Given the description of an element on the screen output the (x, y) to click on. 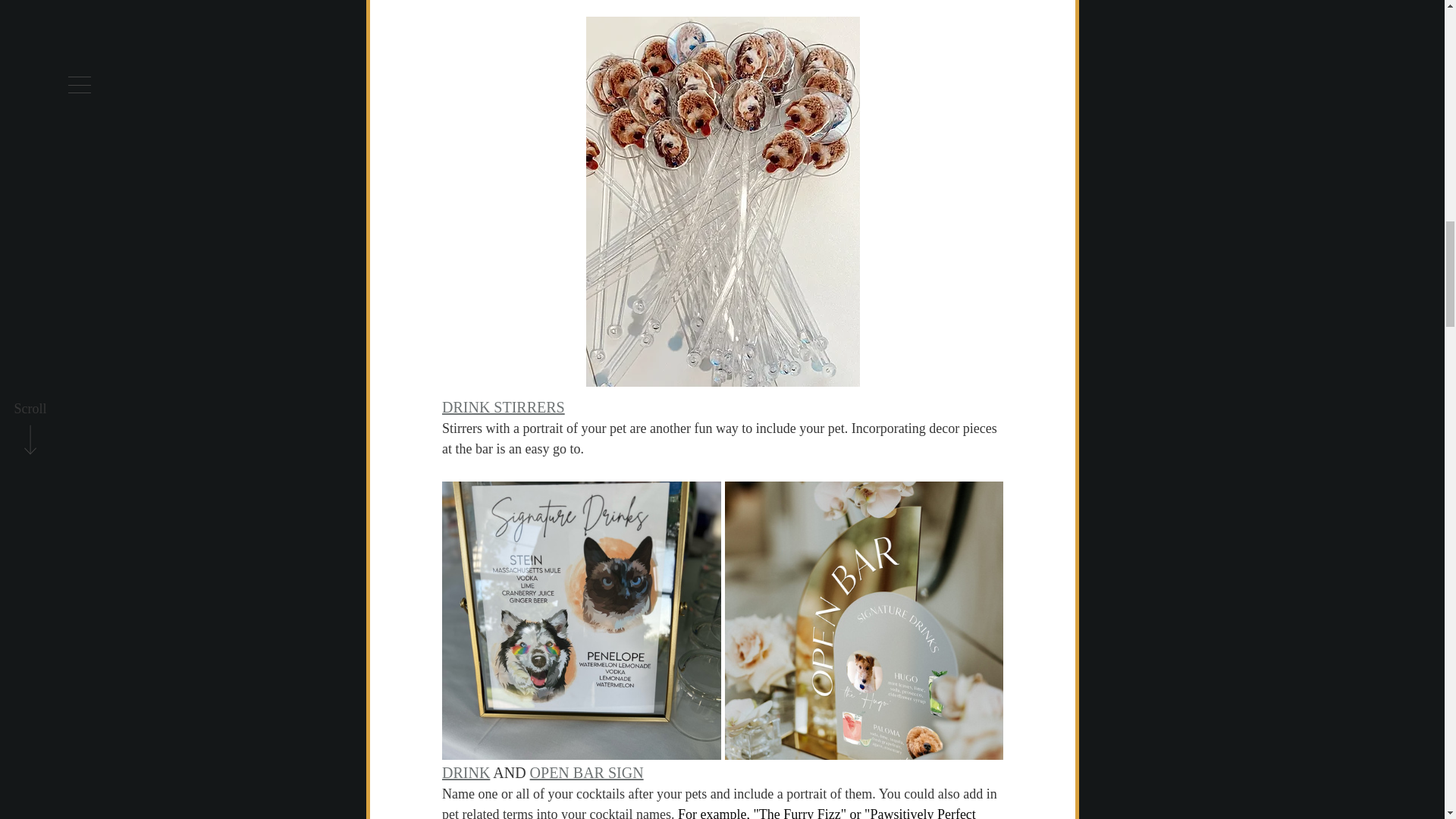
DRINK (465, 772)
OPEN BAR SIGN (586, 772)
DRINK STIRRERS (502, 406)
